Given the description of an element on the screen output the (x, y) to click on. 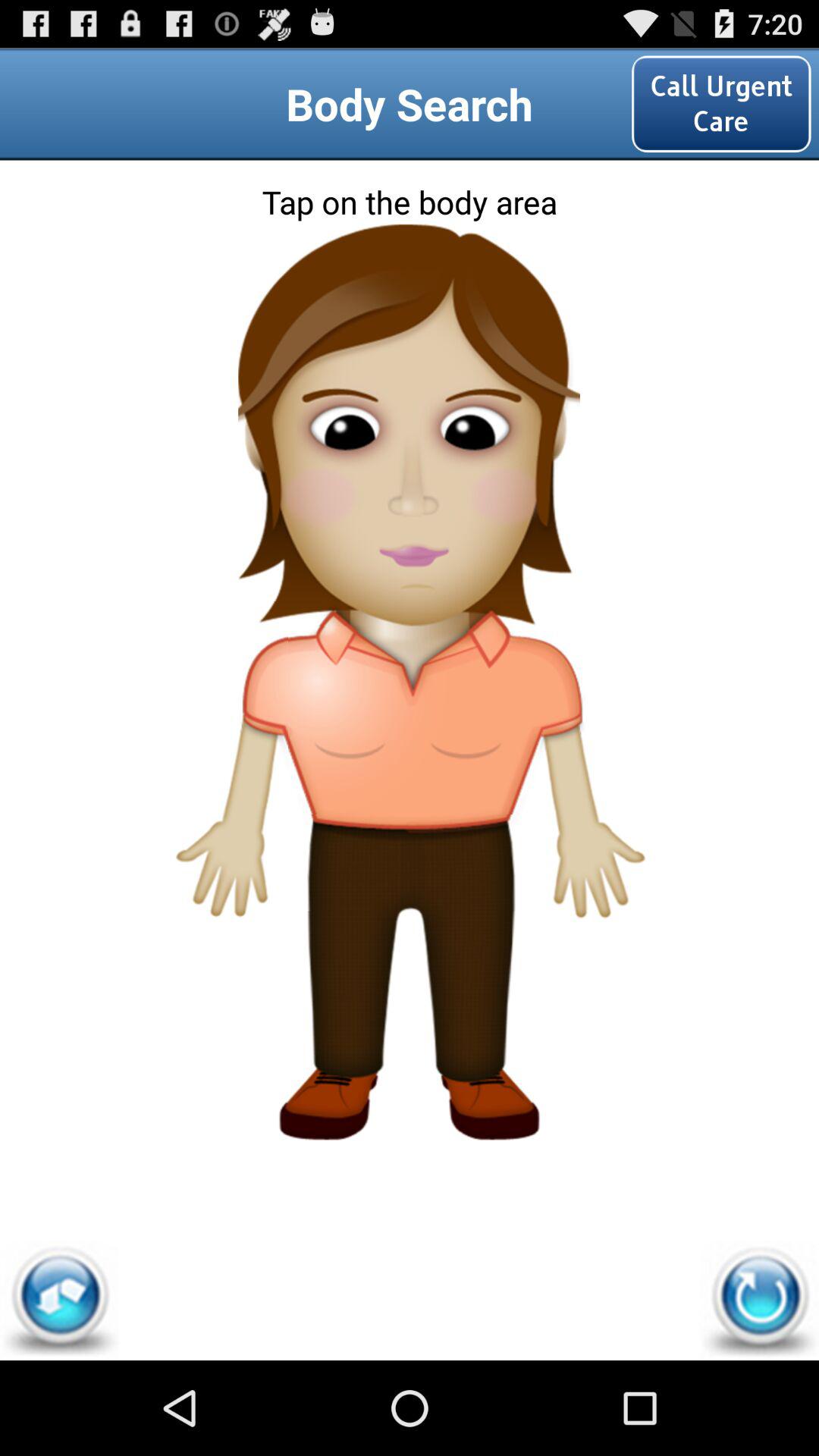
tap on the eye of the character (409, 406)
